Given the description of an element on the screen output the (x, y) to click on. 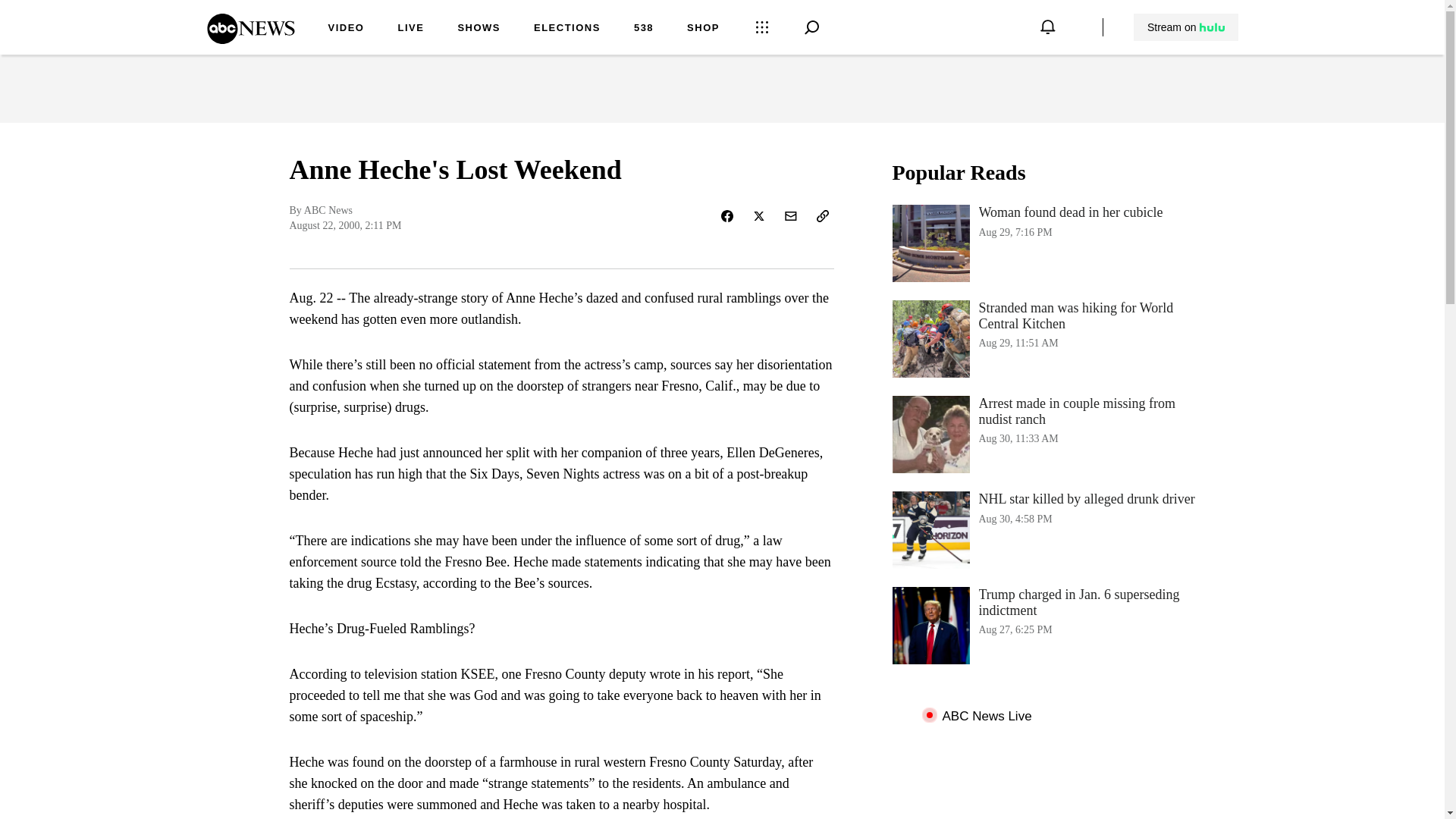
SHOWS (478, 28)
Stream on (1186, 26)
SHOP (703, 28)
ELECTIONS (1043, 242)
VIDEO (566, 28)
Stream on (345, 28)
